Given the description of an element on the screen output the (x, y) to click on. 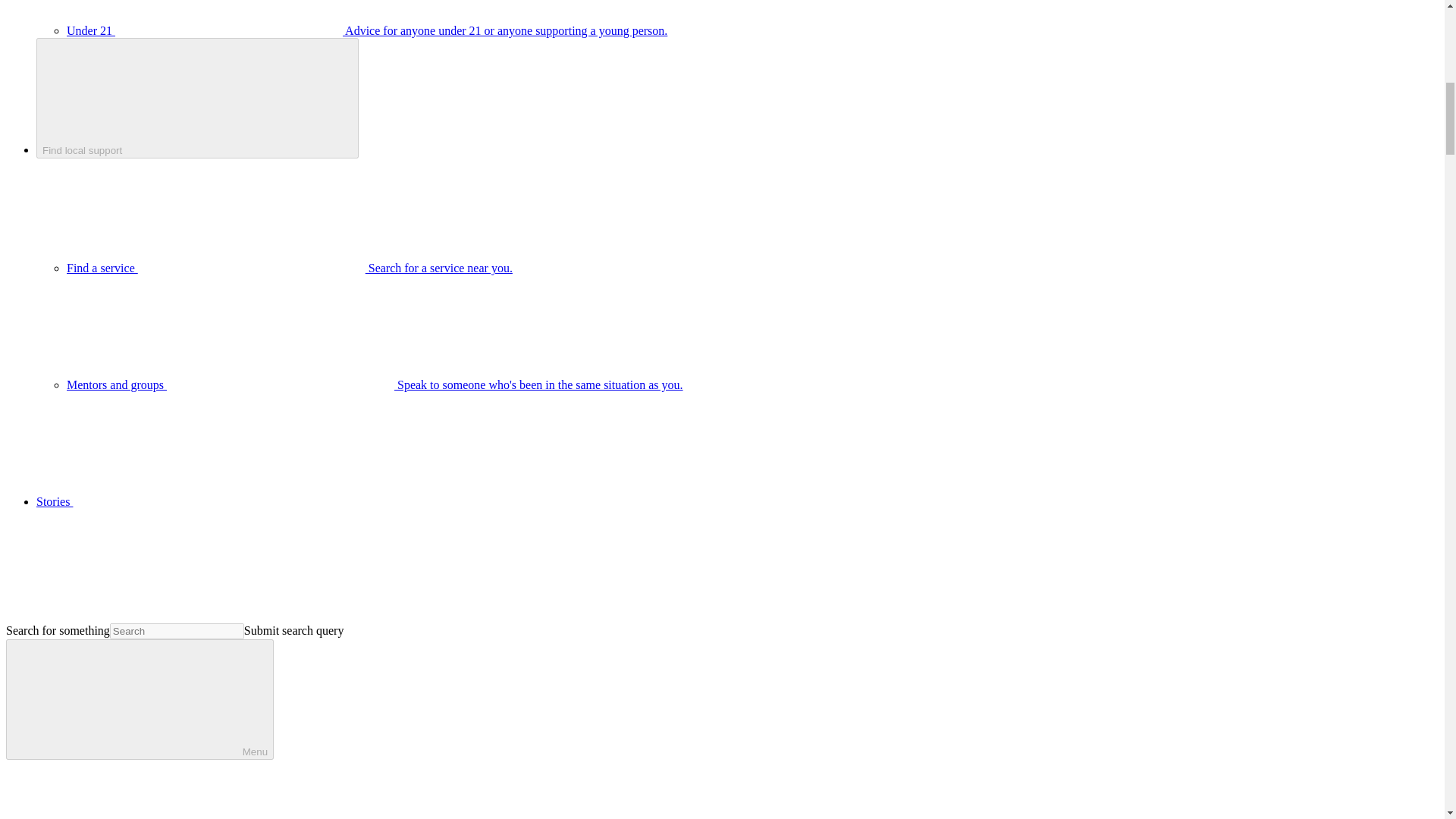
Find local support (197, 97)
site-search (177, 631)
Menu (139, 699)
Search (456, 789)
Stories (167, 501)
Find a service Search for a service near you. (289, 267)
Search (456, 577)
